Given the description of an element on the screen output the (x, y) to click on. 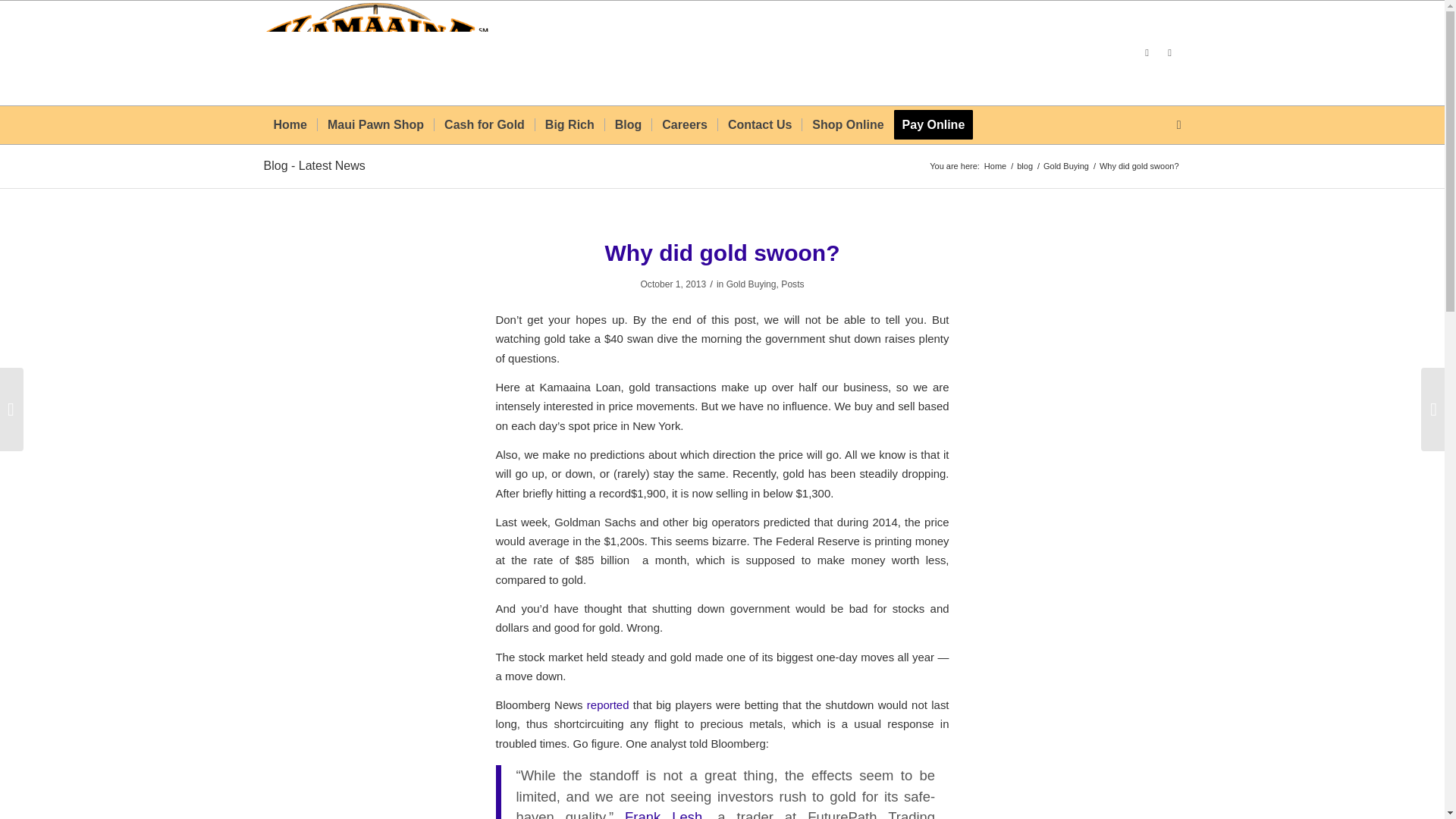
Cash for Gold (483, 125)
Shop Online (847, 125)
blog (1024, 165)
Maui Pawn Shop (375, 125)
Blog - Latest News (314, 164)
Gold Buying (1065, 165)
Home (995, 165)
Contact Us (759, 125)
reported (607, 704)
Frank Lesh (662, 814)
